Given the description of an element on the screen output the (x, y) to click on. 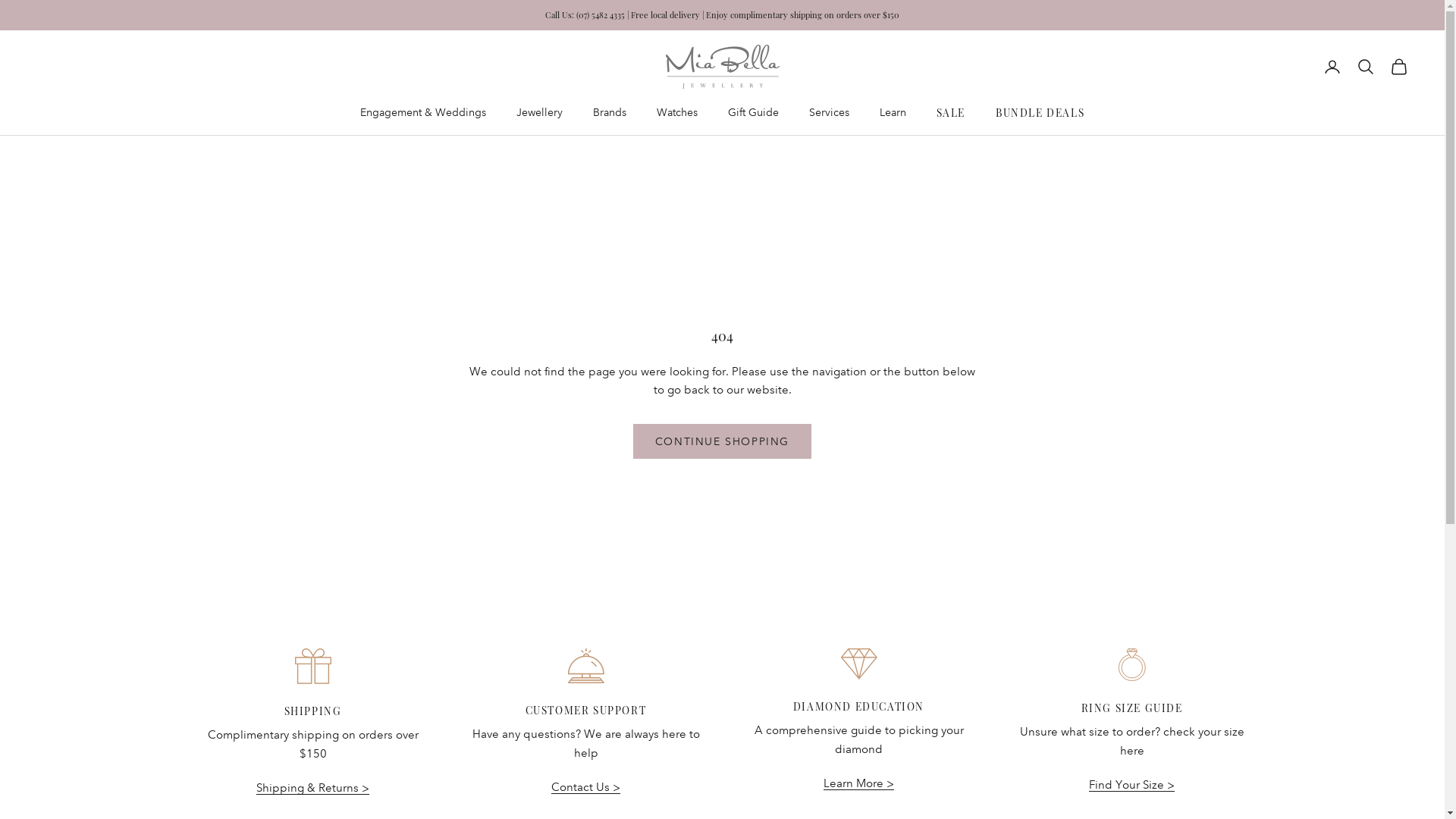
SALE Element type: text (950, 112)
Shipping & Returns > Element type: text (312, 787)
CONTINUE SHOPPING Element type: text (722, 440)
Contact Us > Element type: text (585, 786)
Learn More > Element type: text (858, 783)
BUNDLE DEALS Element type: text (1039, 112)
Mia Bella Jewellery Element type: text (722, 66)
Open account page Element type: text (1332, 66)
Open cart Element type: text (1399, 66)
Find Your Size > Element type: text (1131, 784)
Open search Element type: text (1365, 66)
